Given the description of an element on the screen output the (x, y) to click on. 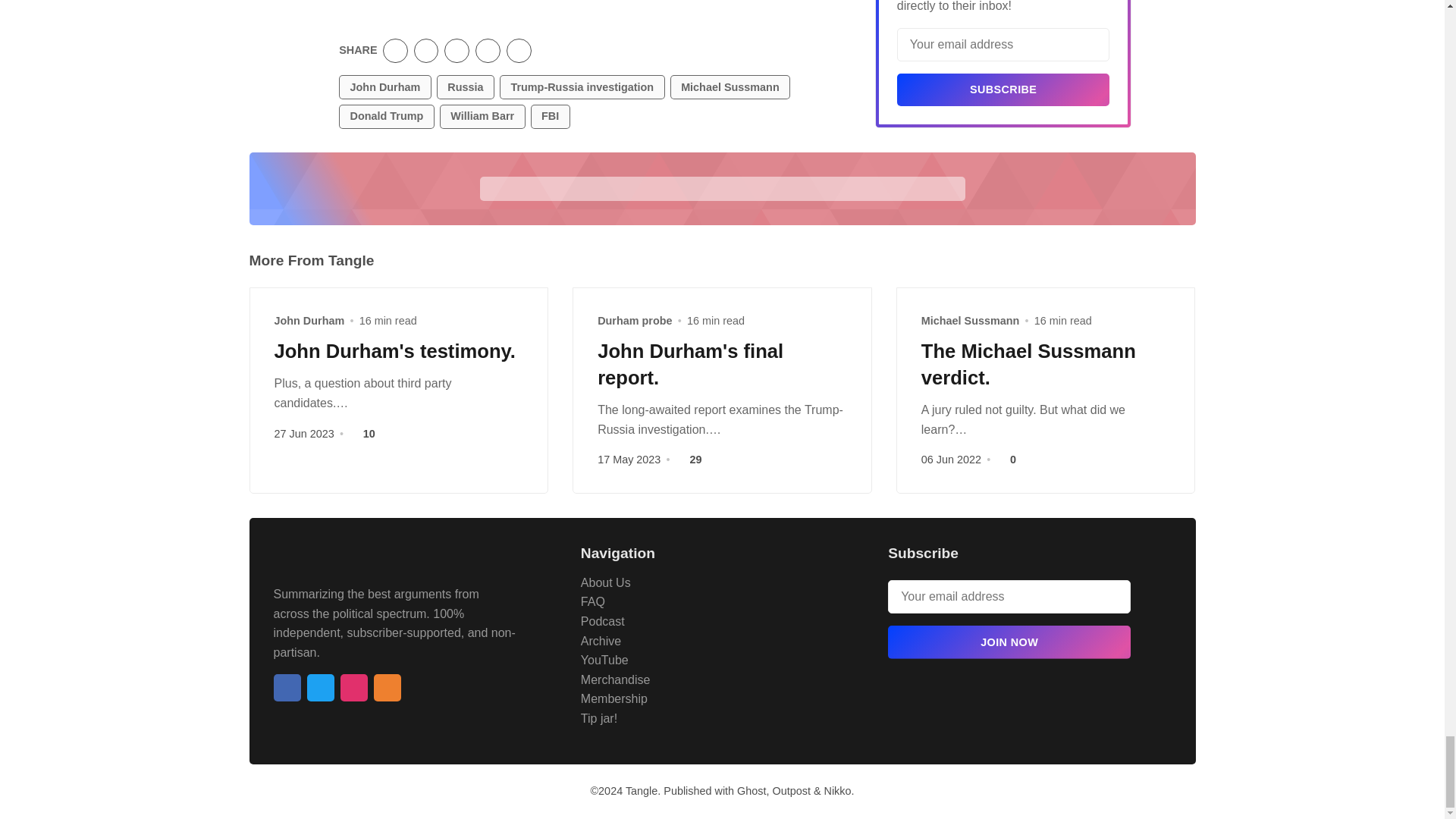
Share by email (488, 50)
Share on Linkedin (456, 50)
Share on Facebook (426, 50)
RSS (386, 687)
Twitter (319, 687)
Share on Twitter (394, 50)
Copy to clipboard (518, 50)
Instagram (352, 687)
Facebook (286, 687)
